Given the description of an element on the screen output the (x, y) to click on. 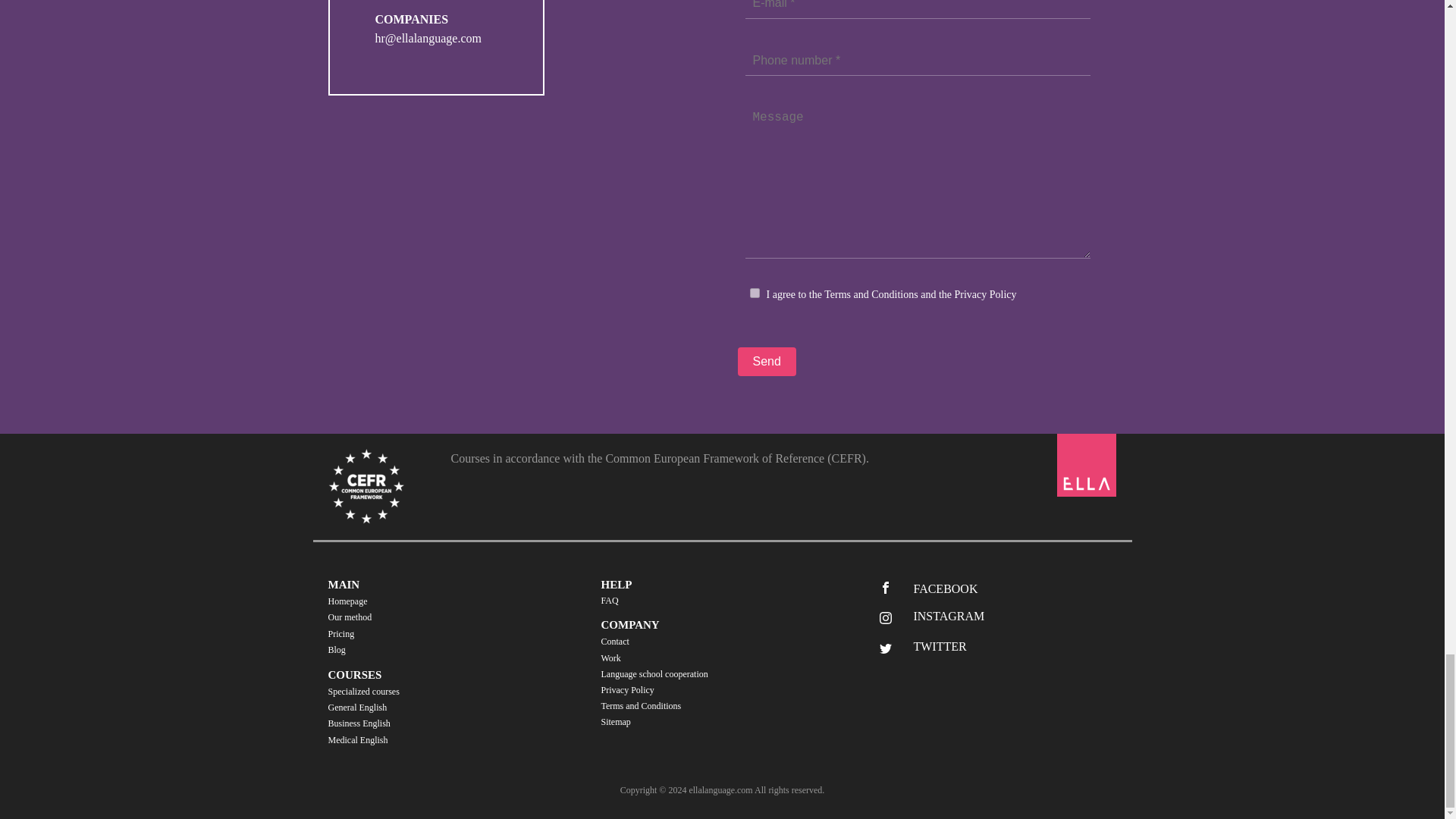
Send (765, 361)
Send (765, 361)
Our method (350, 617)
General English (363, 707)
Specialized courses (363, 691)
Blog (350, 650)
1 (753, 293)
Homepage (350, 601)
Business English (363, 723)
Pricing (350, 634)
